Given the description of an element on the screen output the (x, y) to click on. 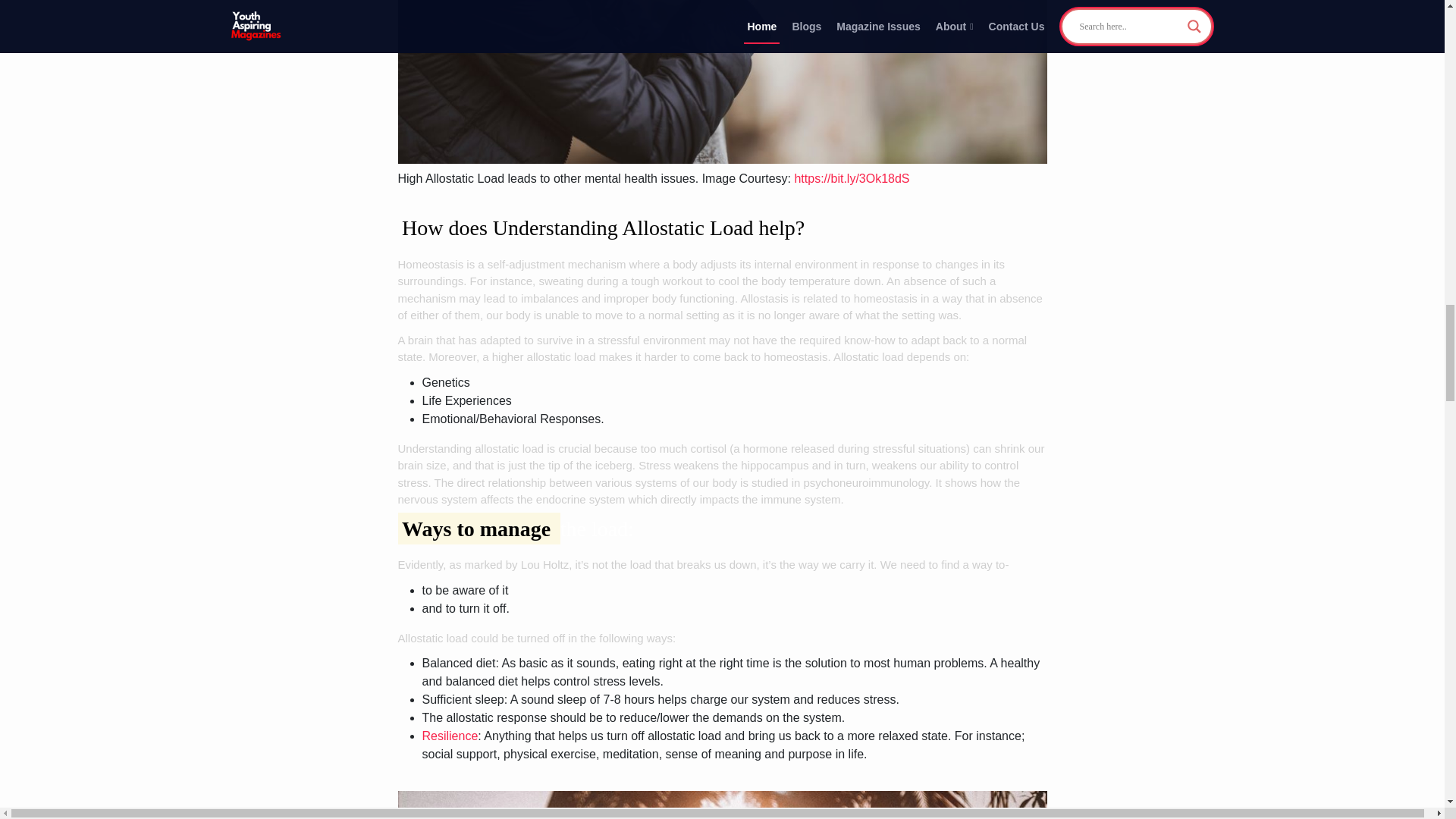
Resilience (449, 735)
